Given the description of an element on the screen output the (x, y) to click on. 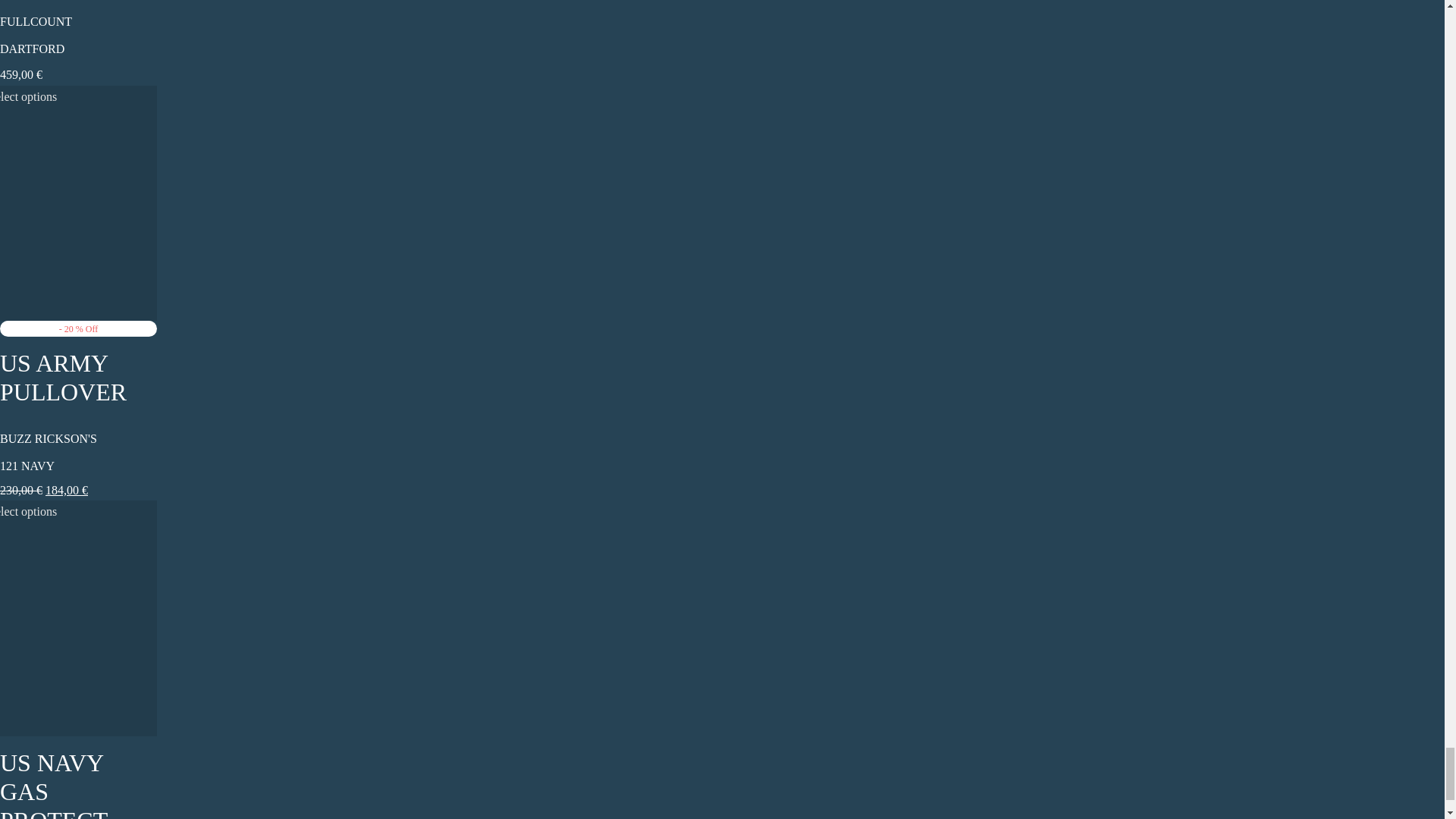
US ARMY PULLOVER (63, 377)
Select options (28, 511)
Select options (28, 96)
